Given the description of an element on the screen output the (x, y) to click on. 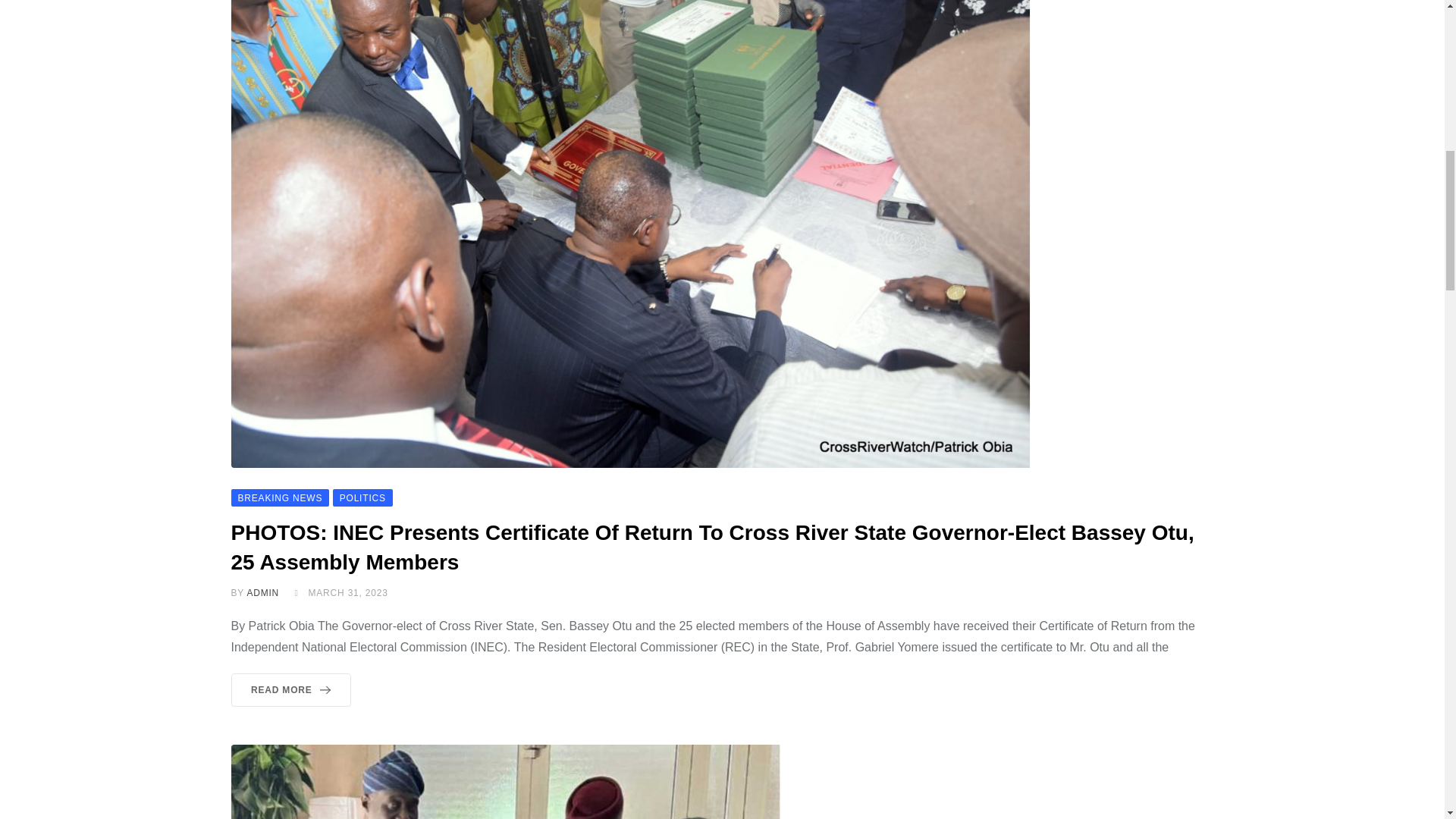
POLITICS (363, 496)
ADMIN (262, 593)
Posts by Admin (262, 593)
READ MORE (290, 689)
BREAKING NEWS (279, 496)
